Given the description of an element on the screen output the (x, y) to click on. 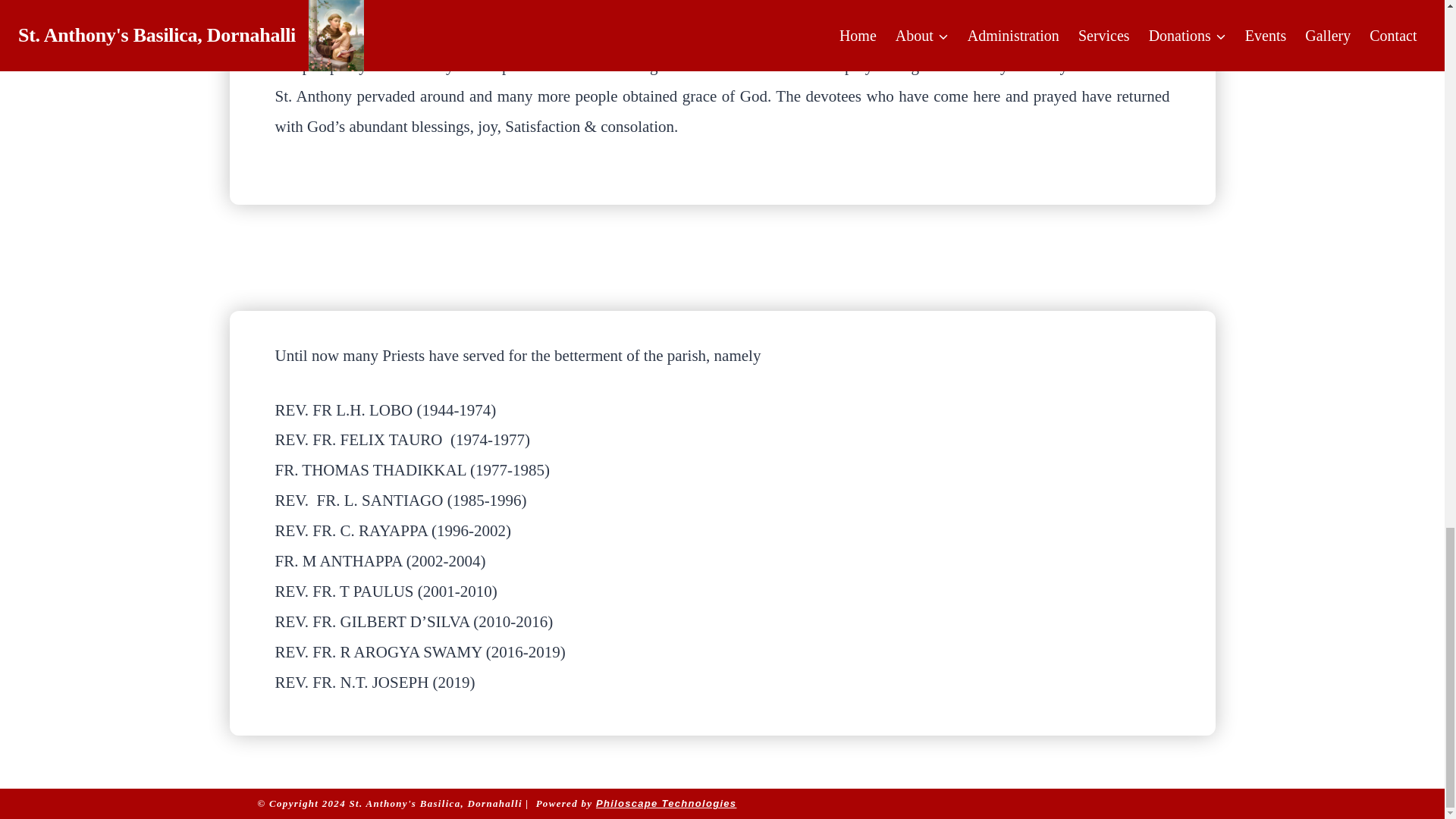
Philoscape Technologies (665, 803)
